Given the description of an element on the screen output the (x, y) to click on. 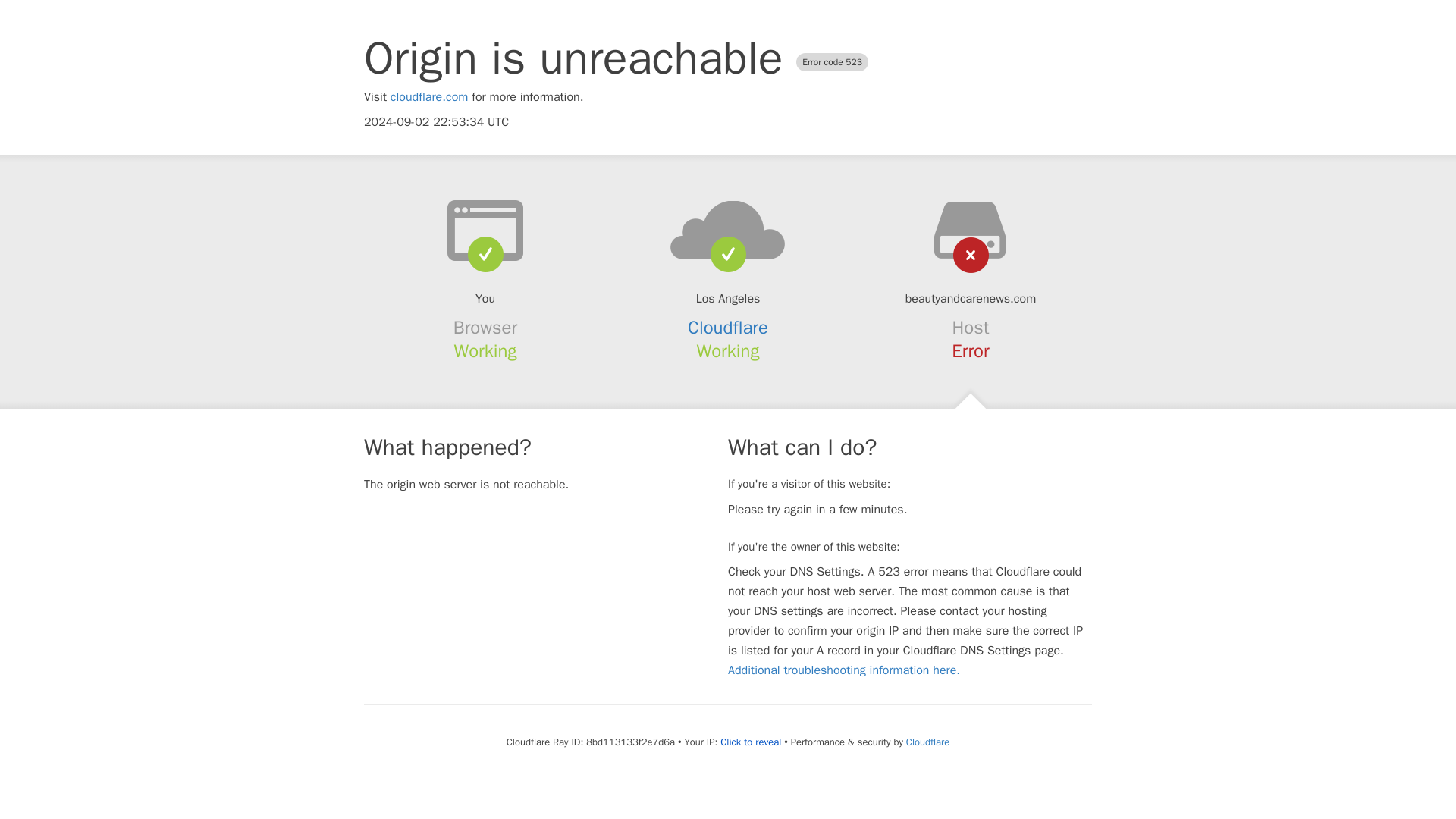
Cloudflare (727, 327)
Click to reveal (750, 742)
cloudflare.com (429, 96)
Cloudflare (927, 741)
Additional troubleshooting information here. (843, 670)
